Given the description of an element on the screen output the (x, y) to click on. 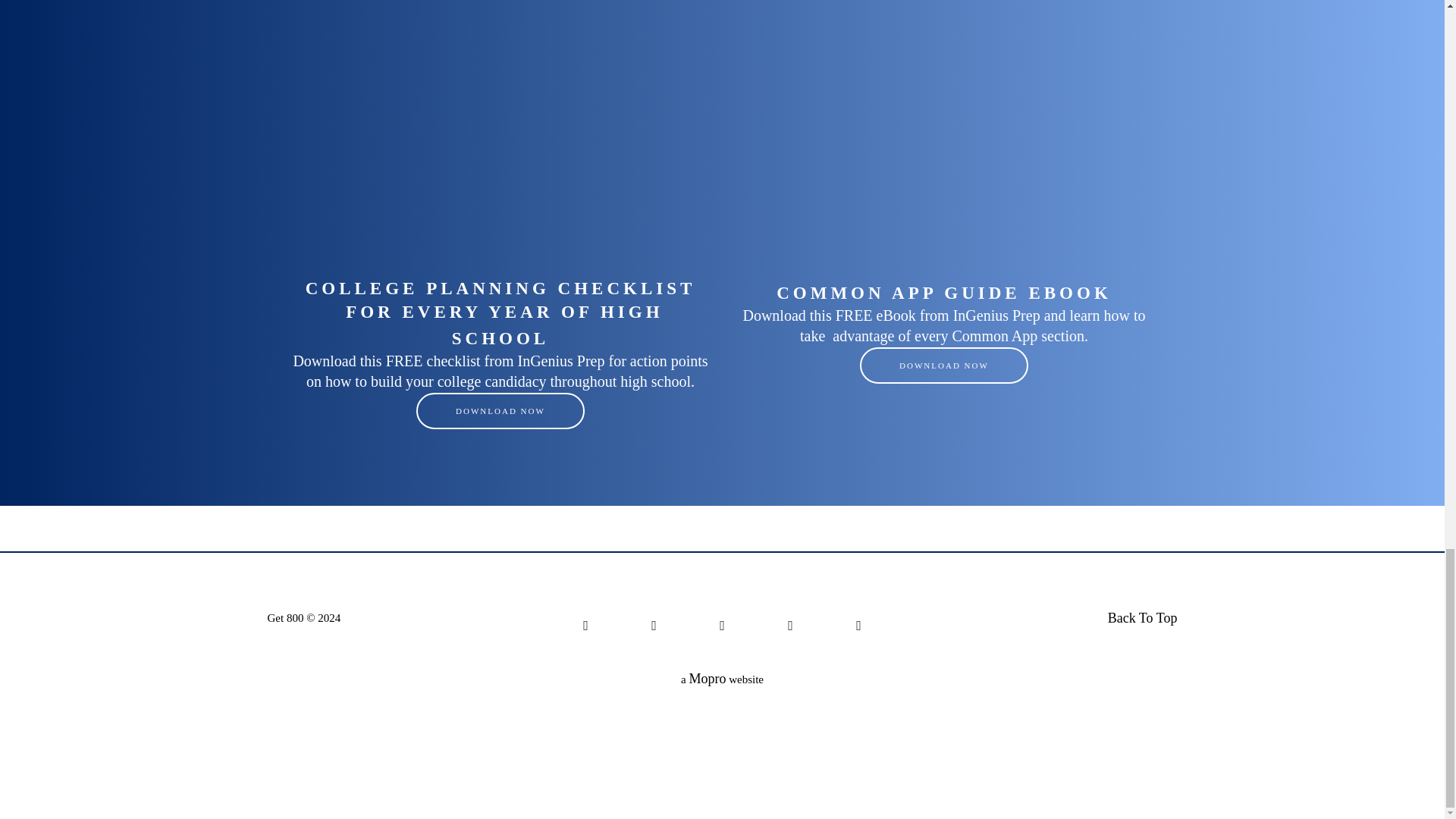
youtube icon (654, 624)
linkedin icon (585, 624)
pinterest icon (722, 624)
